Given the description of an element on the screen output the (x, y) to click on. 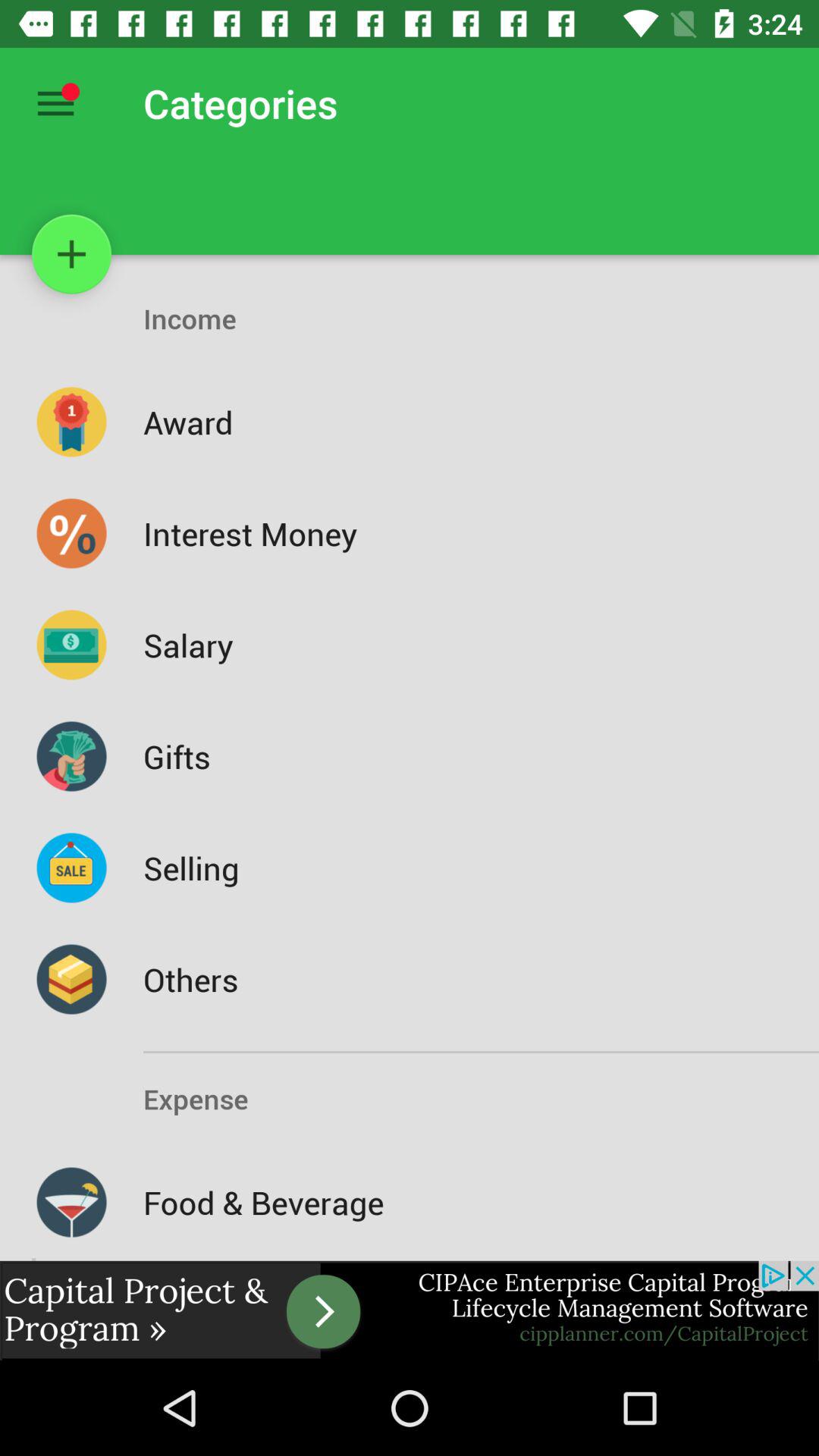
view all options (55, 103)
